Given the description of an element on the screen output the (x, y) to click on. 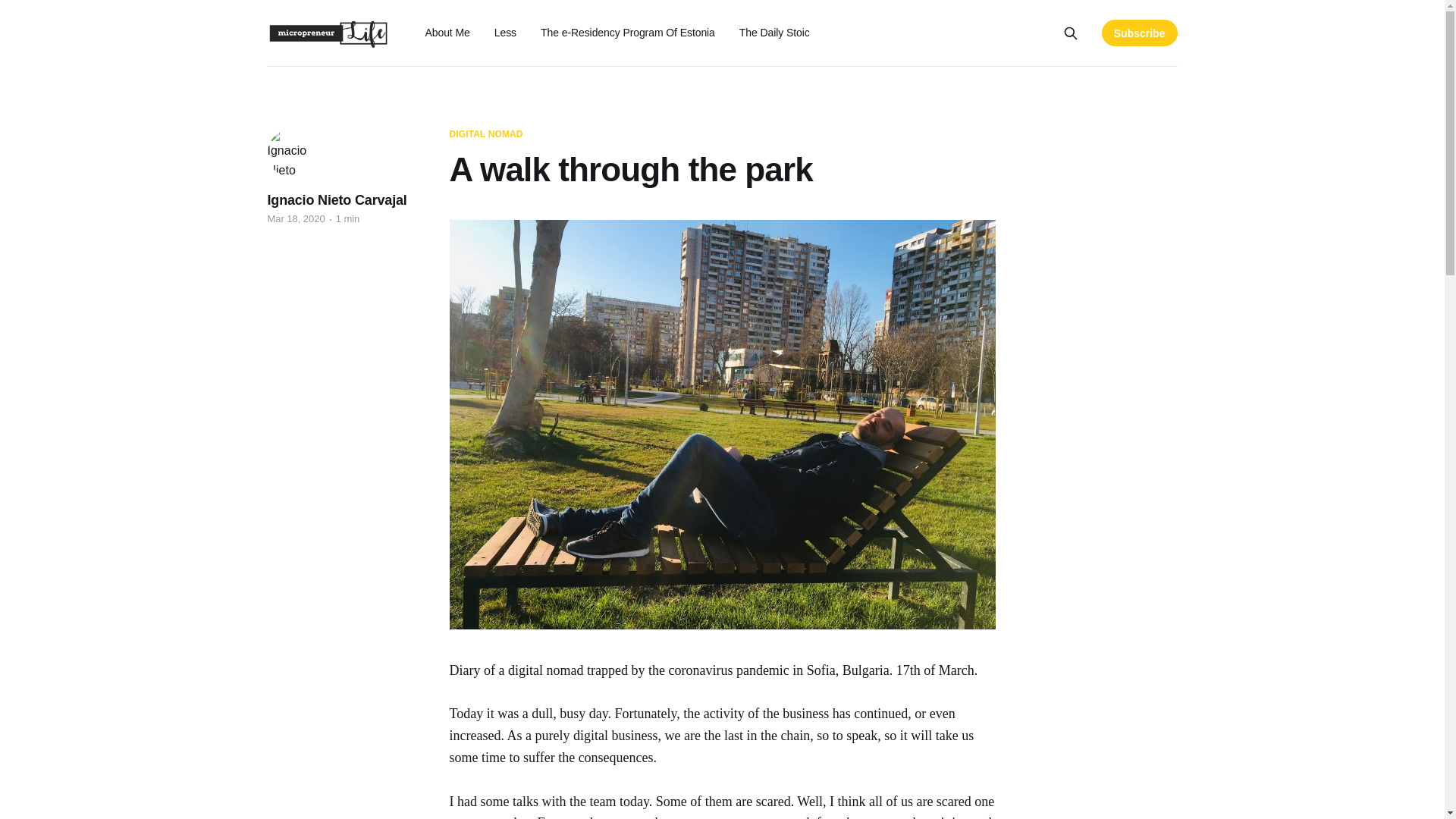
Ignacio Nieto Carvajal (336, 199)
The Daily Stoic (774, 32)
About Me (446, 32)
The e-Residency Program Of Estonia (627, 32)
Subscribe (1139, 32)
DIGITAL NOMAD (485, 134)
Less (505, 32)
